Given the description of an element on the screen output the (x, y) to click on. 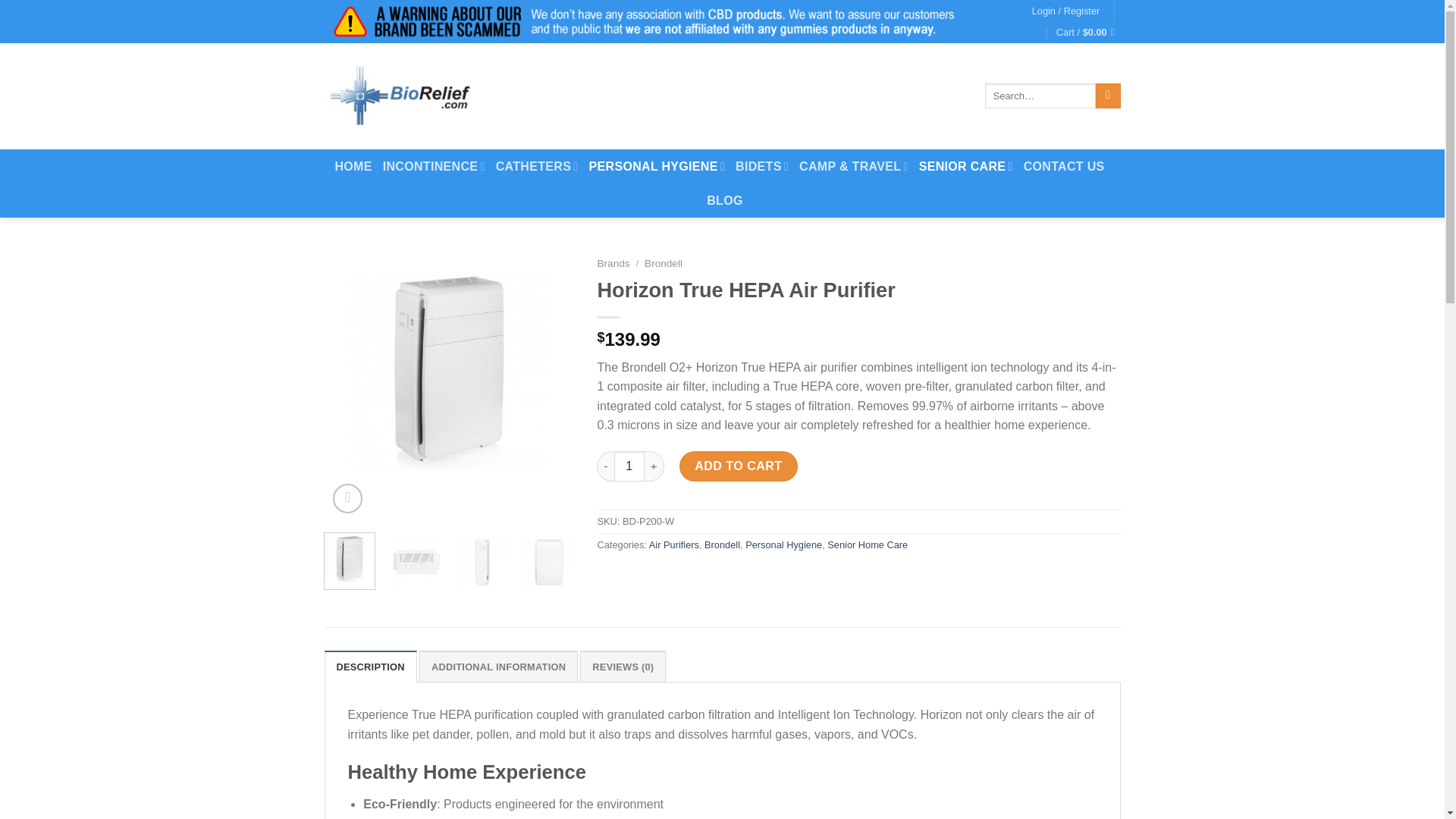
Opens a widget where you can chat to one of our agents (1386, 792)
Cart (1089, 32)
Brondell O2 plus Horizon True HEPA Air Purifier (449, 372)
1 (629, 466)
HOME (352, 166)
PERSONAL HYGIENE (657, 166)
INCONTINENCE (433, 166)
BioRelief - Better Health Through Hygiene (400, 95)
Zoom (347, 498)
BIDETS (762, 166)
Search (1108, 95)
CATHETERS (537, 166)
SENIOR CARE (965, 166)
